Given the description of an element on the screen output the (x, y) to click on. 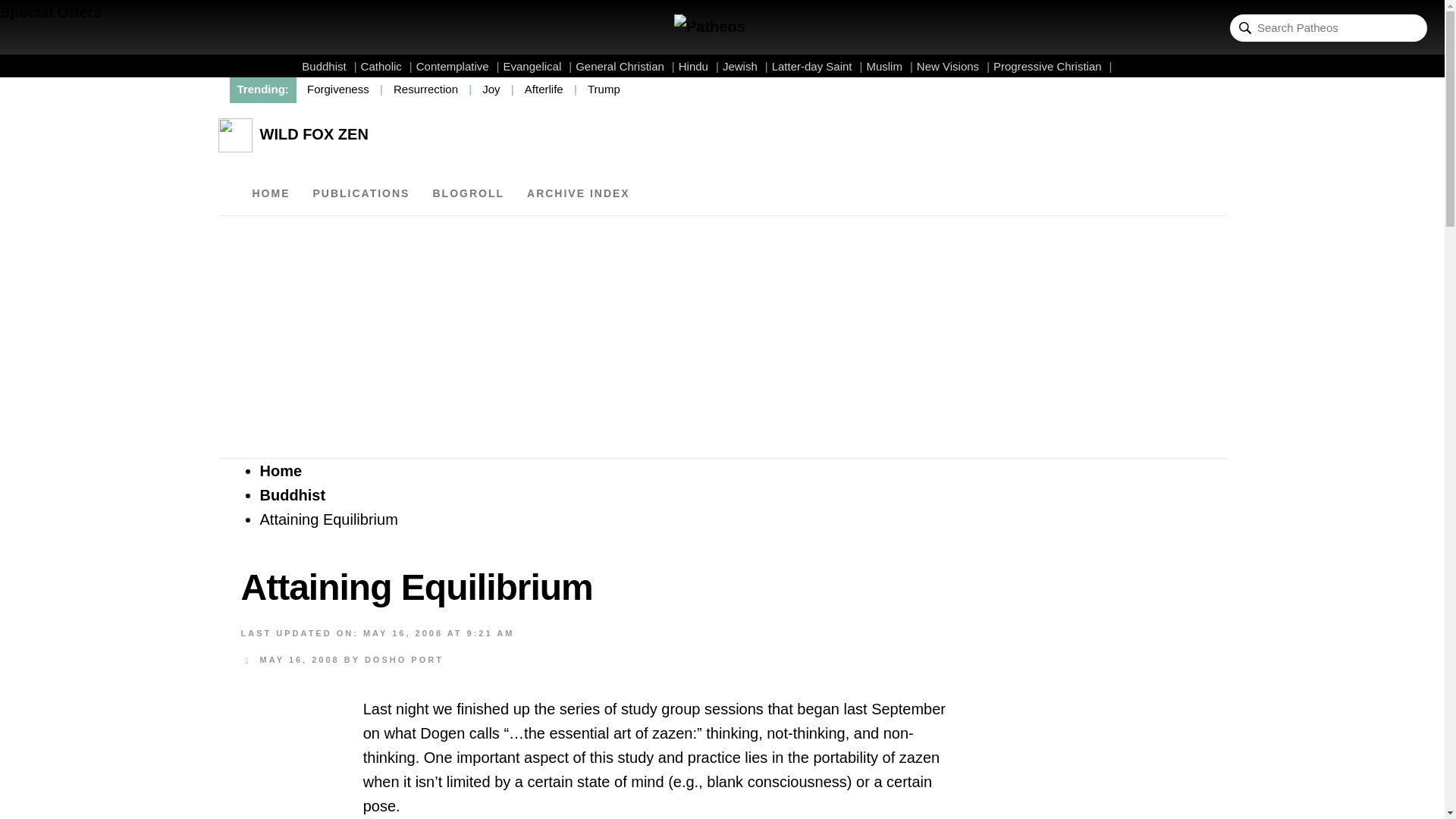
New Visions (953, 65)
Jewish (745, 65)
Catholic (386, 65)
Hindu (698, 65)
Progressive Christian (1052, 65)
Evangelical (537, 65)
General Christian (625, 65)
Buddhist (328, 65)
Latter-day Saint (817, 65)
Muslim (889, 65)
